Given the description of an element on the screen output the (x, y) to click on. 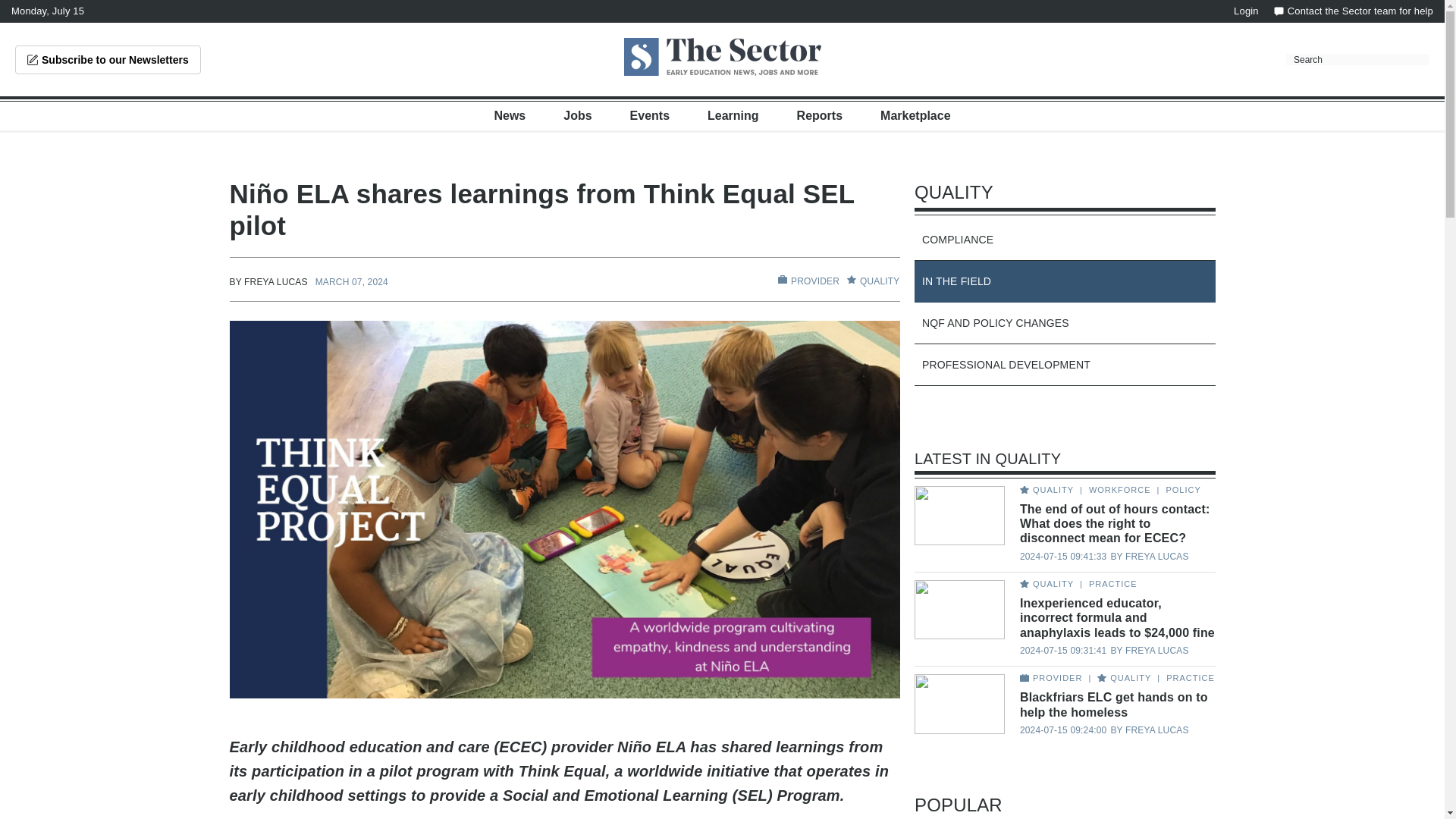
Reports (819, 115)
FILL 11 COPY 7 CREATED WITH SKETCH. PROVIDER (808, 280)
Subscribe to our Newsletters (107, 59)
FILL 11 COPY 7 CREATED WITH SKETCH. (782, 279)
SHAPE COPY 5 CREATED WITH SKETCH. (851, 279)
Marketplace (915, 115)
Learning (732, 115)
News (509, 115)
Contact the Sector team for help (1353, 11)
SHAPE COPY 5 CREATED WITH SKETCH. QUALITY (873, 280)
Events (649, 115)
Jobs (577, 115)
Login (1246, 11)
